Given the description of an element on the screen output the (x, y) to click on. 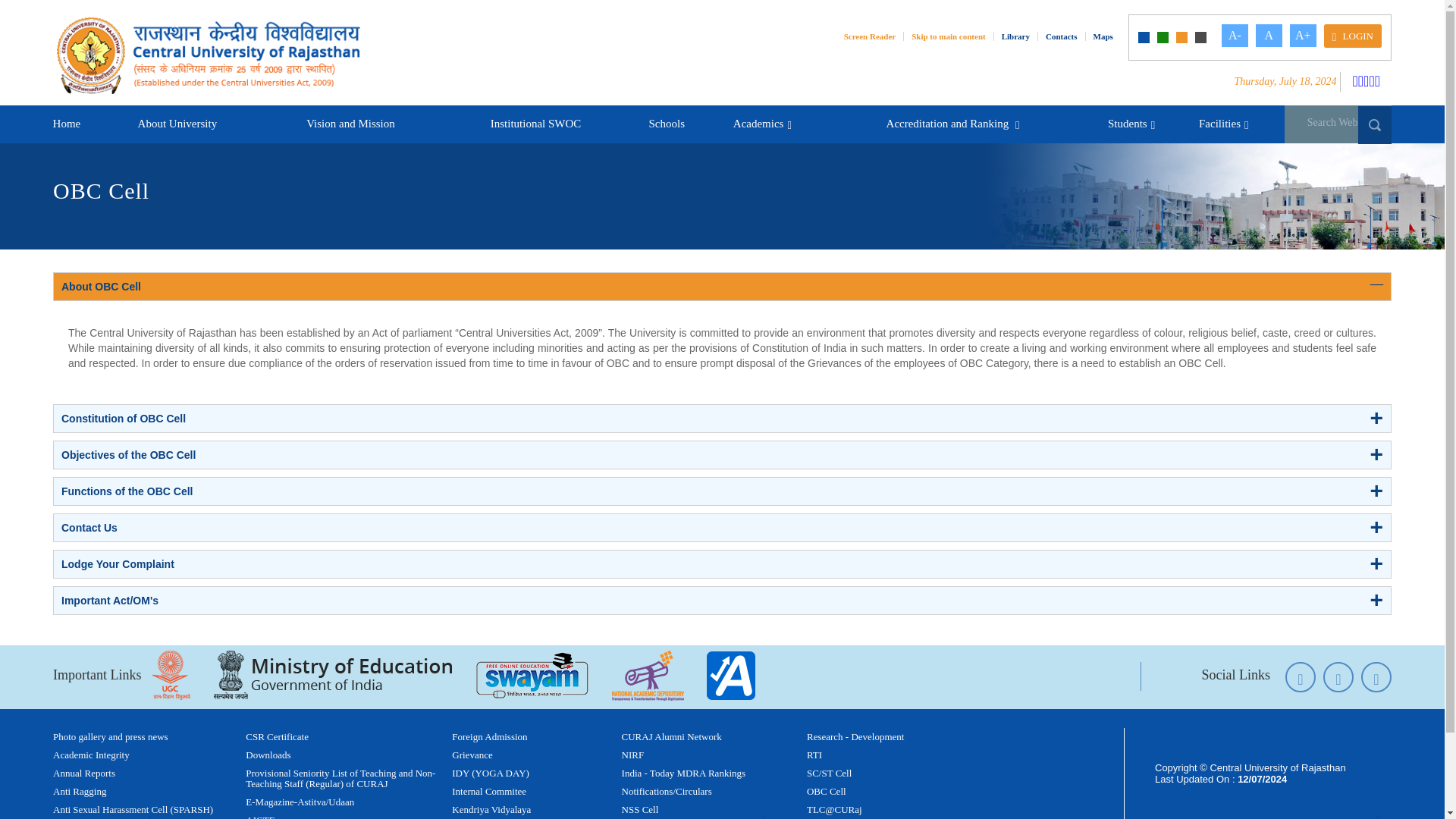
University Grants Commission (171, 675)
SWAYAM (531, 674)
A- (1234, 35)
Maps (1107, 35)
Increase font size (1303, 35)
Natioanl Academy Depository (647, 675)
Schools (665, 123)
Vision and Mission (350, 123)
LOGIN (1352, 35)
Home (66, 123)
Academics (759, 123)
Institutional SWOC (535, 123)
Decrease font size (1268, 35)
Screen Reader (874, 35)
Increase font size (1234, 35)
